Given the description of an element on the screen output the (x, y) to click on. 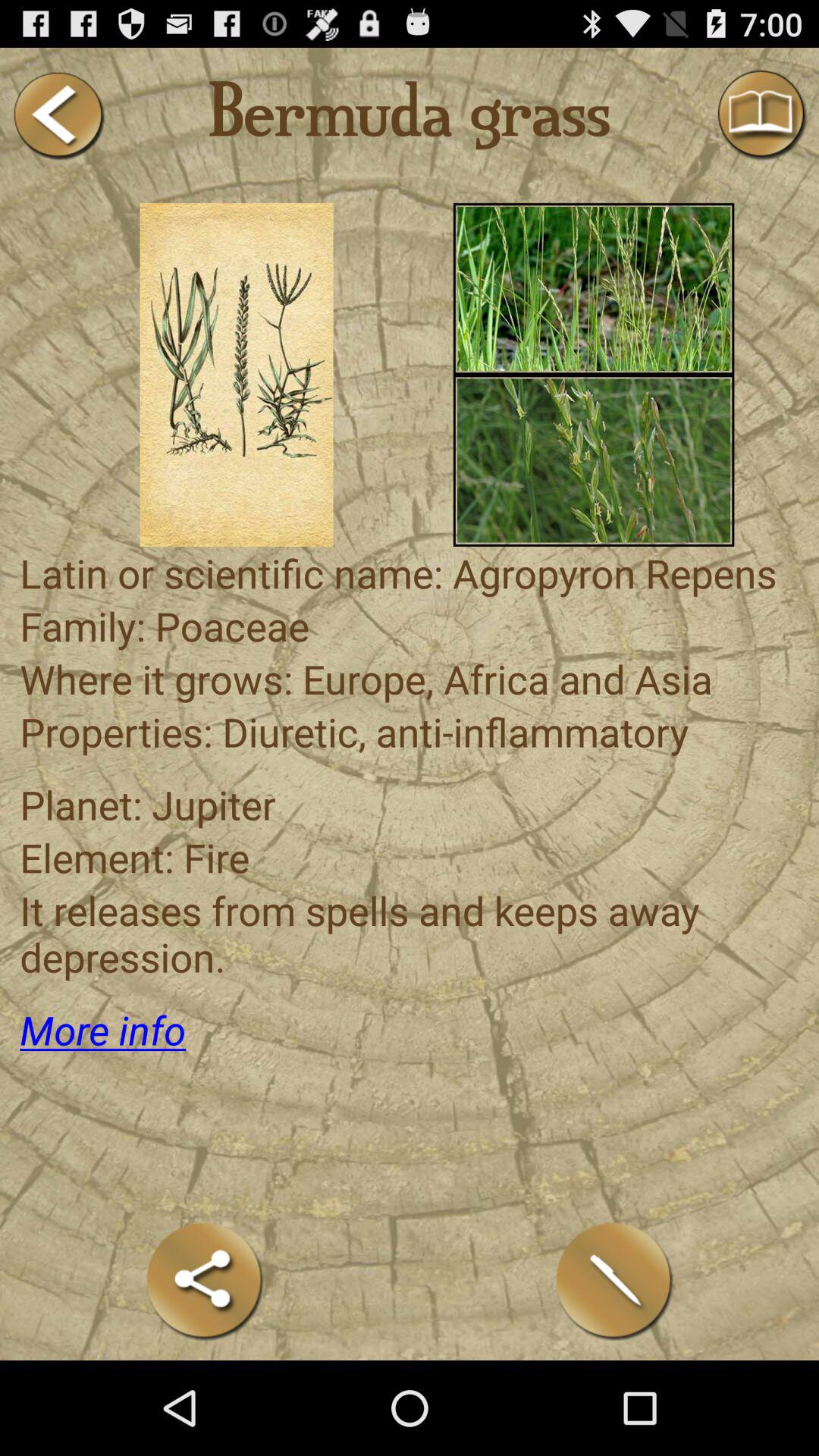
choose the selection (236, 374)
